Given the description of an element on the screen output the (x, y) to click on. 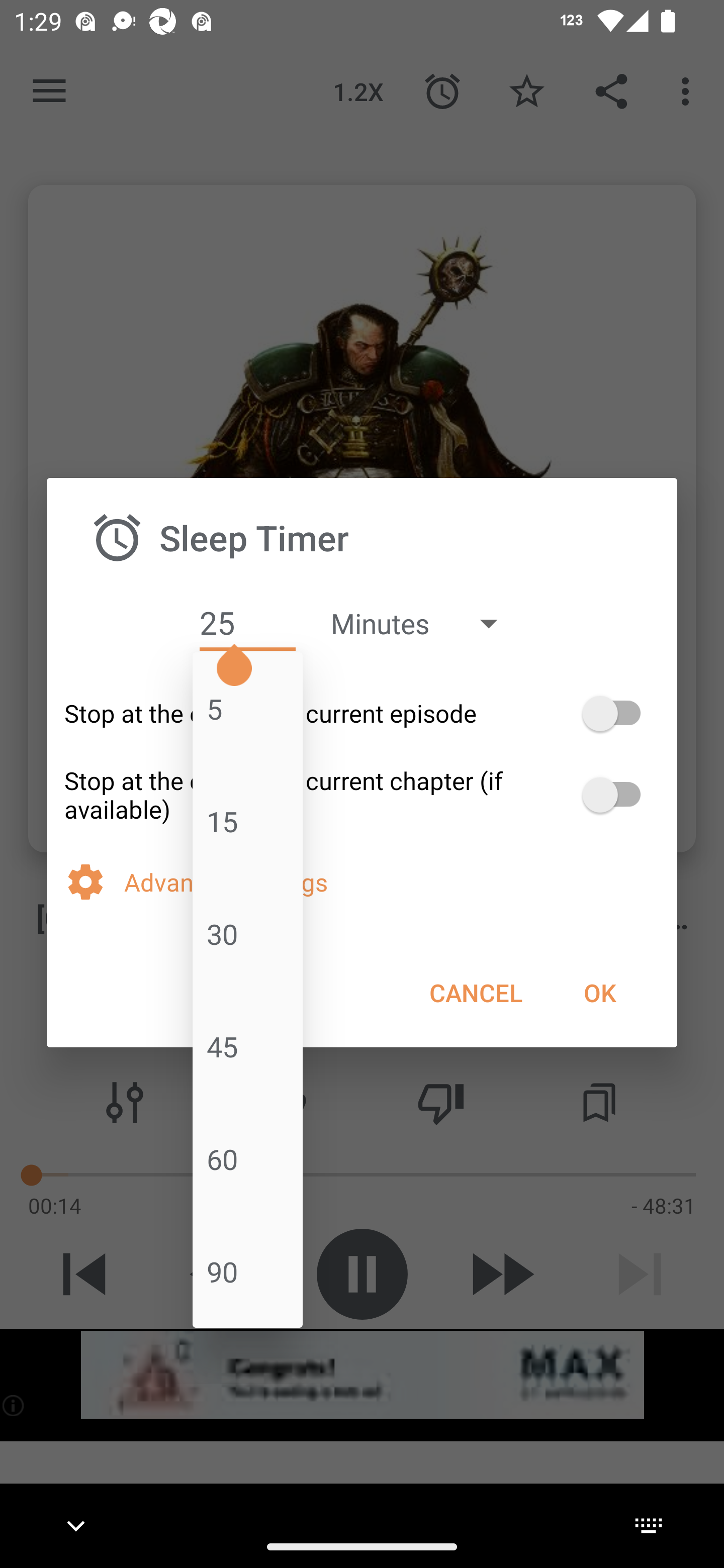
25 (247, 623)
Minutes (423, 623)
Stop at the end of the current episode (361, 712)
Advanced settings (391, 881)
CANCEL (475, 992)
OK (599, 992)
